Given the description of an element on the screen output the (x, y) to click on. 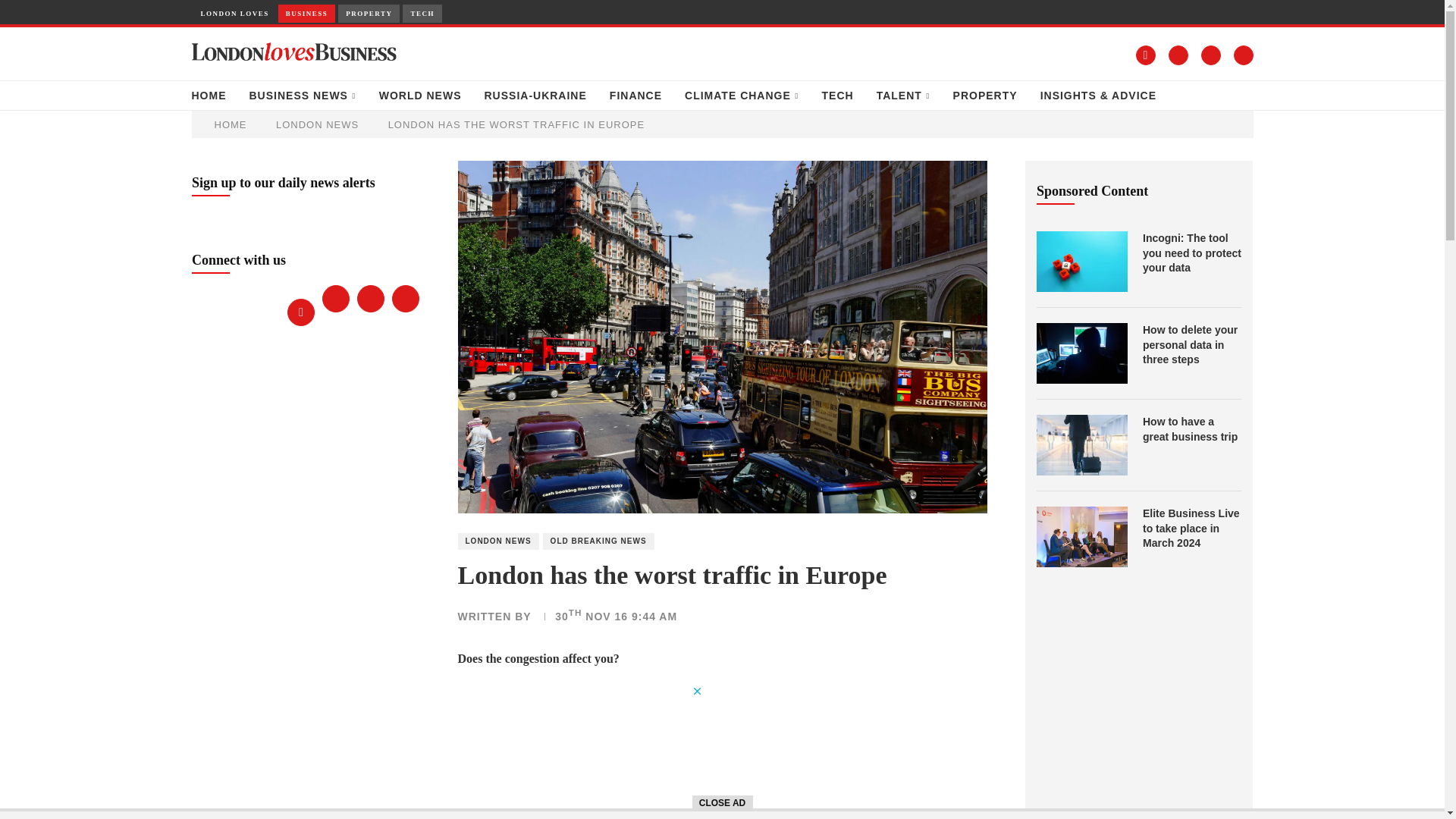
Incogni: The tool you need to protect your data (1191, 253)
3rd party ad content (589, 751)
How to delete your personal data in three steps (1191, 344)
How to delete your personal data in three steps (1081, 353)
Incogni: The tool you need to protect your data (1081, 260)
